Given the description of an element on the screen output the (x, y) to click on. 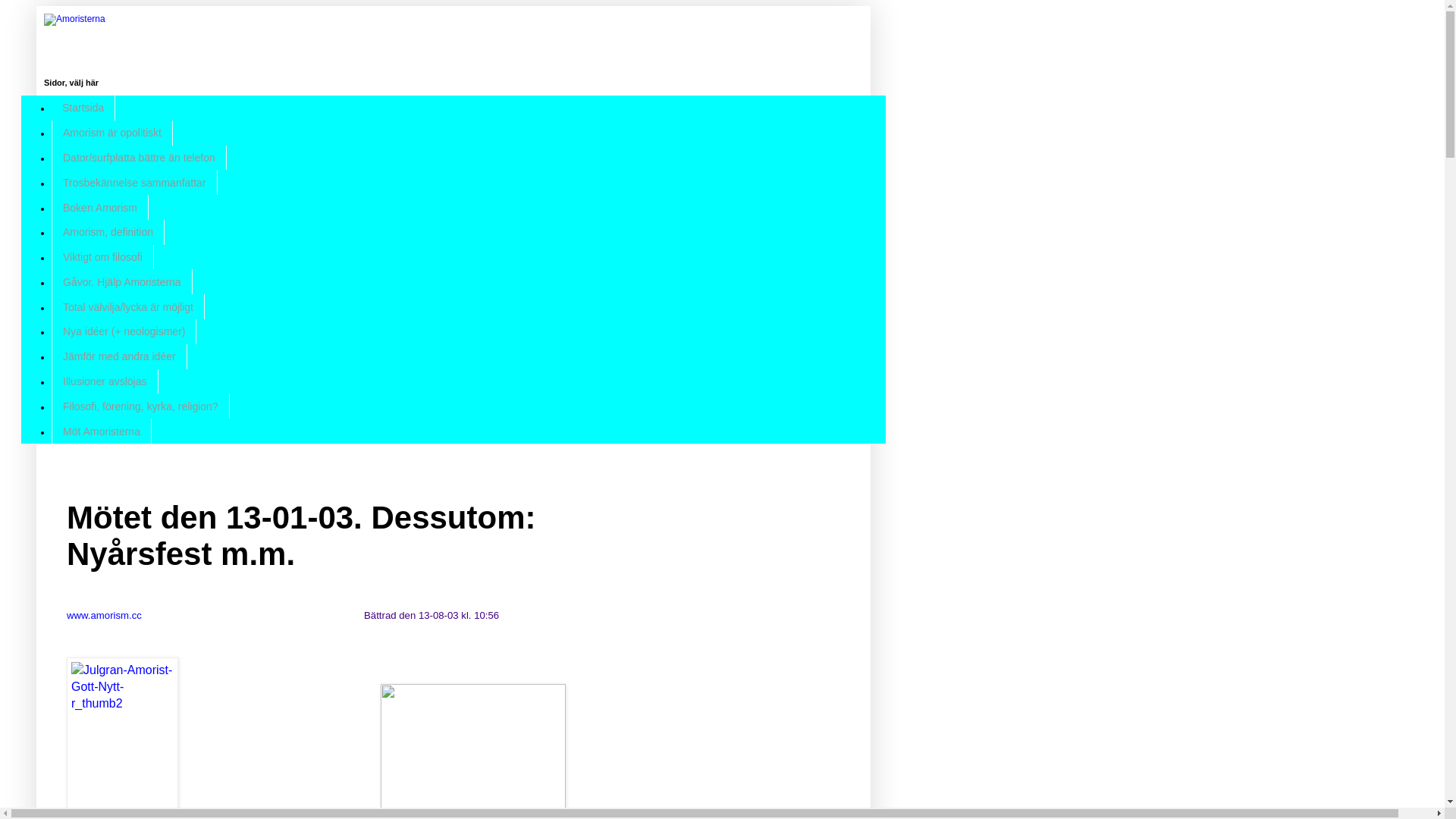
www.amorism.cc Element type: text (103, 615)
Startsida Element type: text (83, 107)
Boken Amorism Element type: text (99, 206)
Viktigt om filosofi Element type: text (102, 256)
Amorism, definition Element type: text (107, 231)
